Given the description of an element on the screen output the (x, y) to click on. 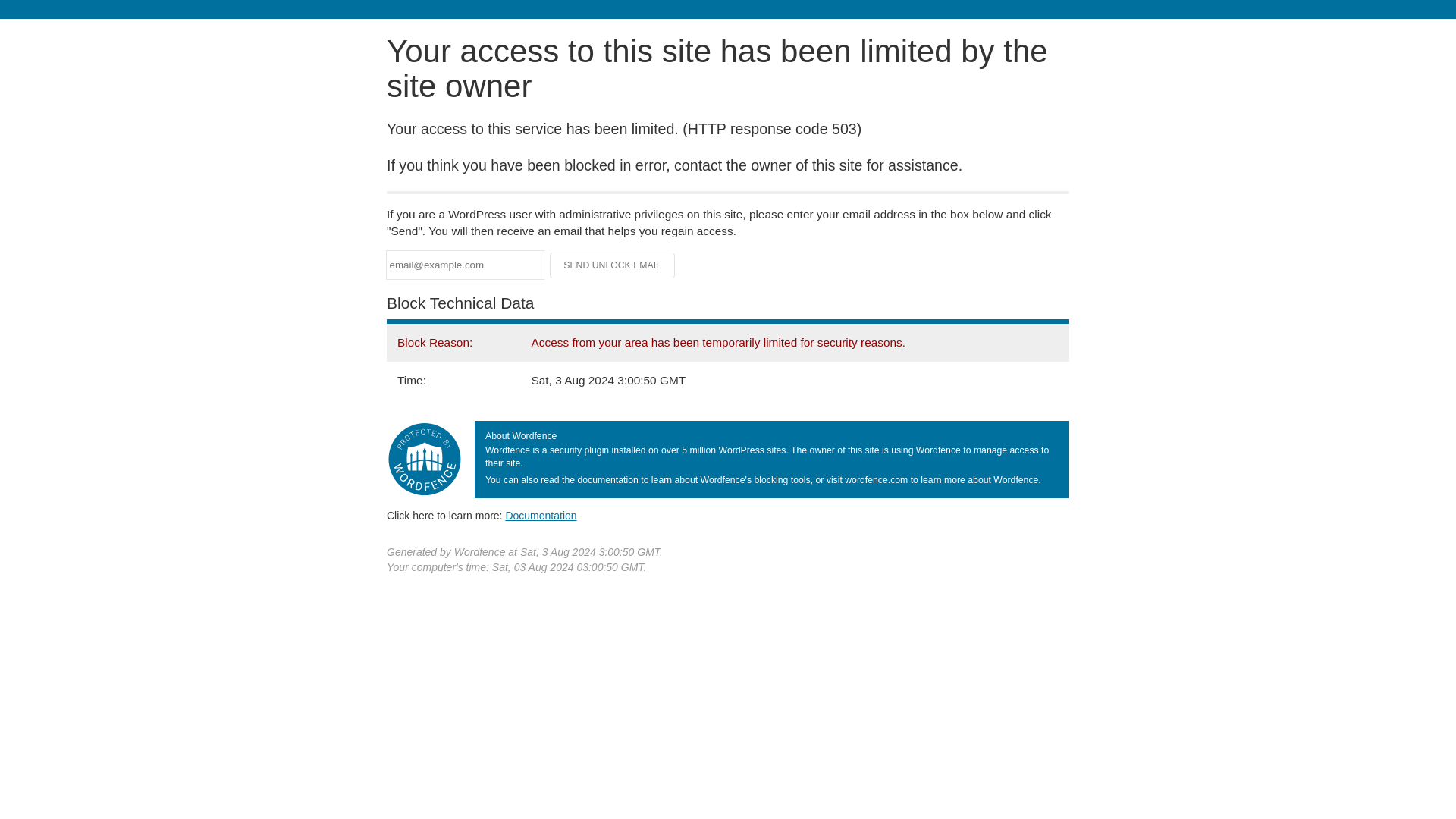
Send Unlock Email (612, 265)
Documentation (540, 515)
Send Unlock Email (612, 265)
